Given the description of an element on the screen output the (x, y) to click on. 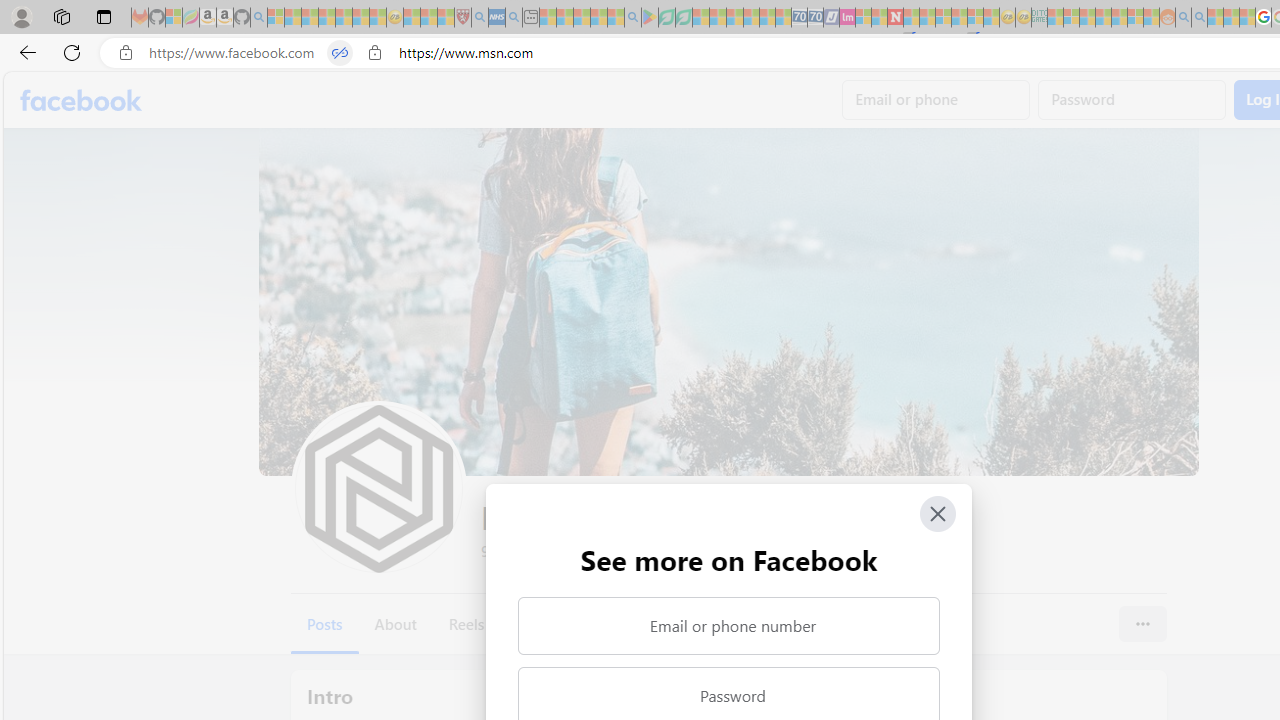
google - Search - Sleeping (632, 17)
Cheap Hotels - Save70.com - Sleeping (815, 17)
MSNBC - MSN - Sleeping (1055, 17)
Utah sues federal government - Search - Sleeping (1199, 17)
list of asthma inhalers uk - Search - Sleeping (479, 17)
14 Common Myths Debunked By Scientific Facts - Sleeping (927, 17)
Recipes - MSN - Sleeping (411, 17)
Jobs - lastminute.com Investor Portal - Sleeping (847, 17)
